Given the description of an element on the screen output the (x, y) to click on. 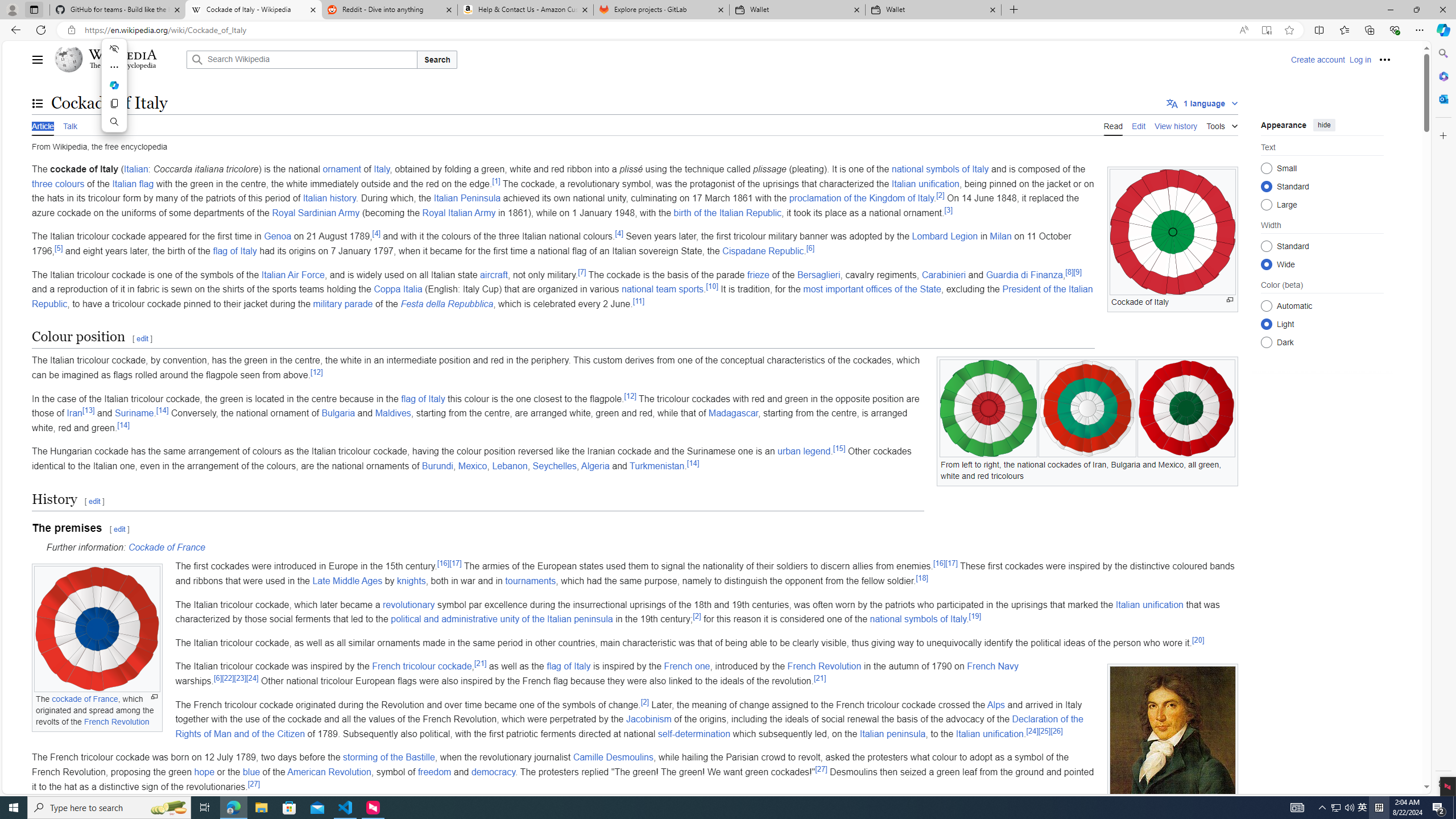
tournaments (530, 580)
[22] (227, 677)
most important offices of the State (871, 289)
[15] (838, 447)
hope (204, 771)
[11] (638, 300)
Large (1266, 204)
[23] (240, 677)
Seychelles (554, 466)
Toggle the table of contents (37, 103)
Carabinieri (943, 274)
Italy (382, 169)
